Given the description of an element on the screen output the (x, y) to click on. 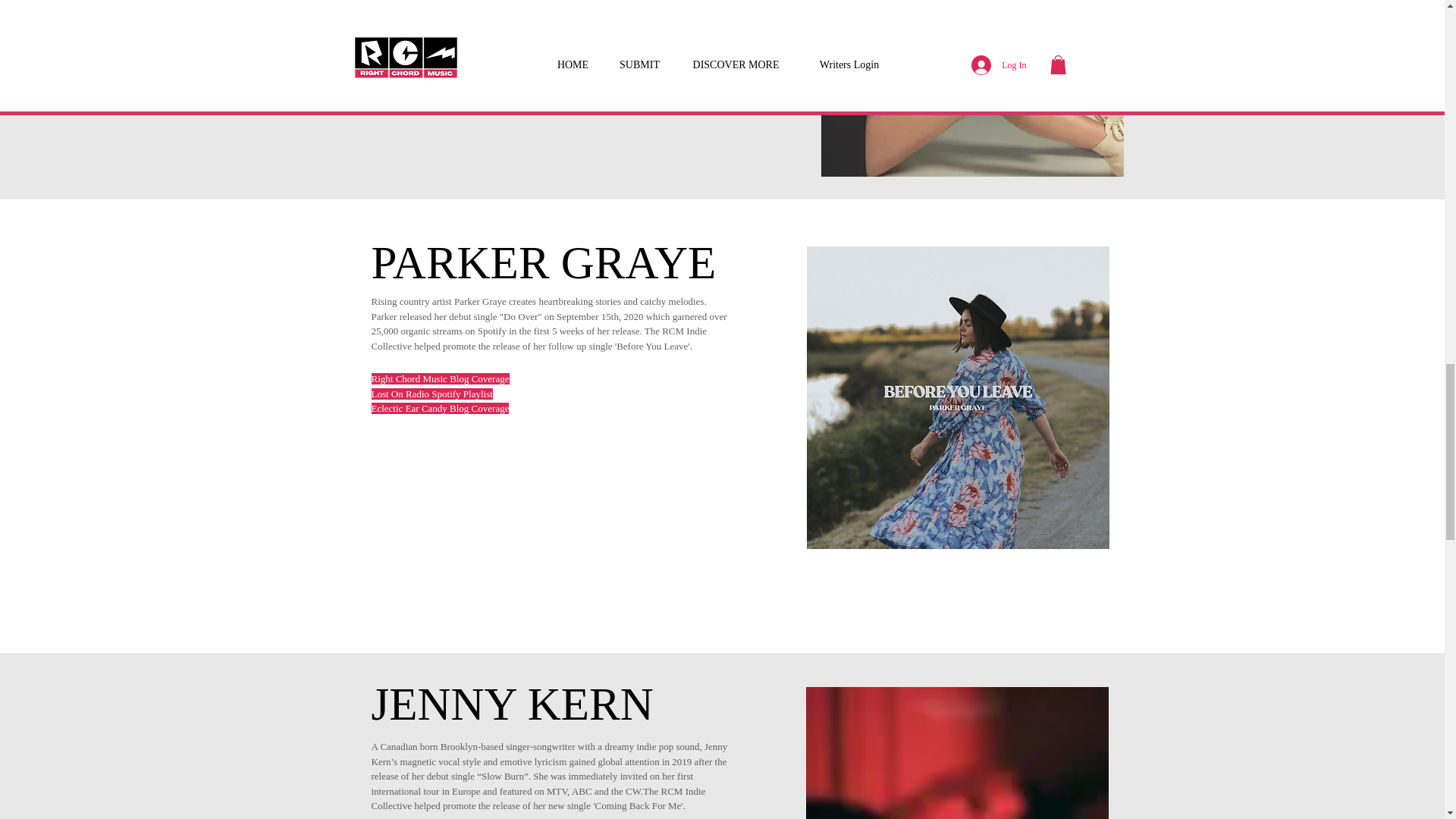
Lost On Radio Spotify Playlist (432, 393)
Right Chord Music Blog Coverage (440, 378)
Eclectic Ear Candy Blog Coverage (440, 408)
Right Chord Music Blog Coverage (438, 5)
Tonitruale Blog Coverage (420, 20)
